Given the description of an element on the screen output the (x, y) to click on. 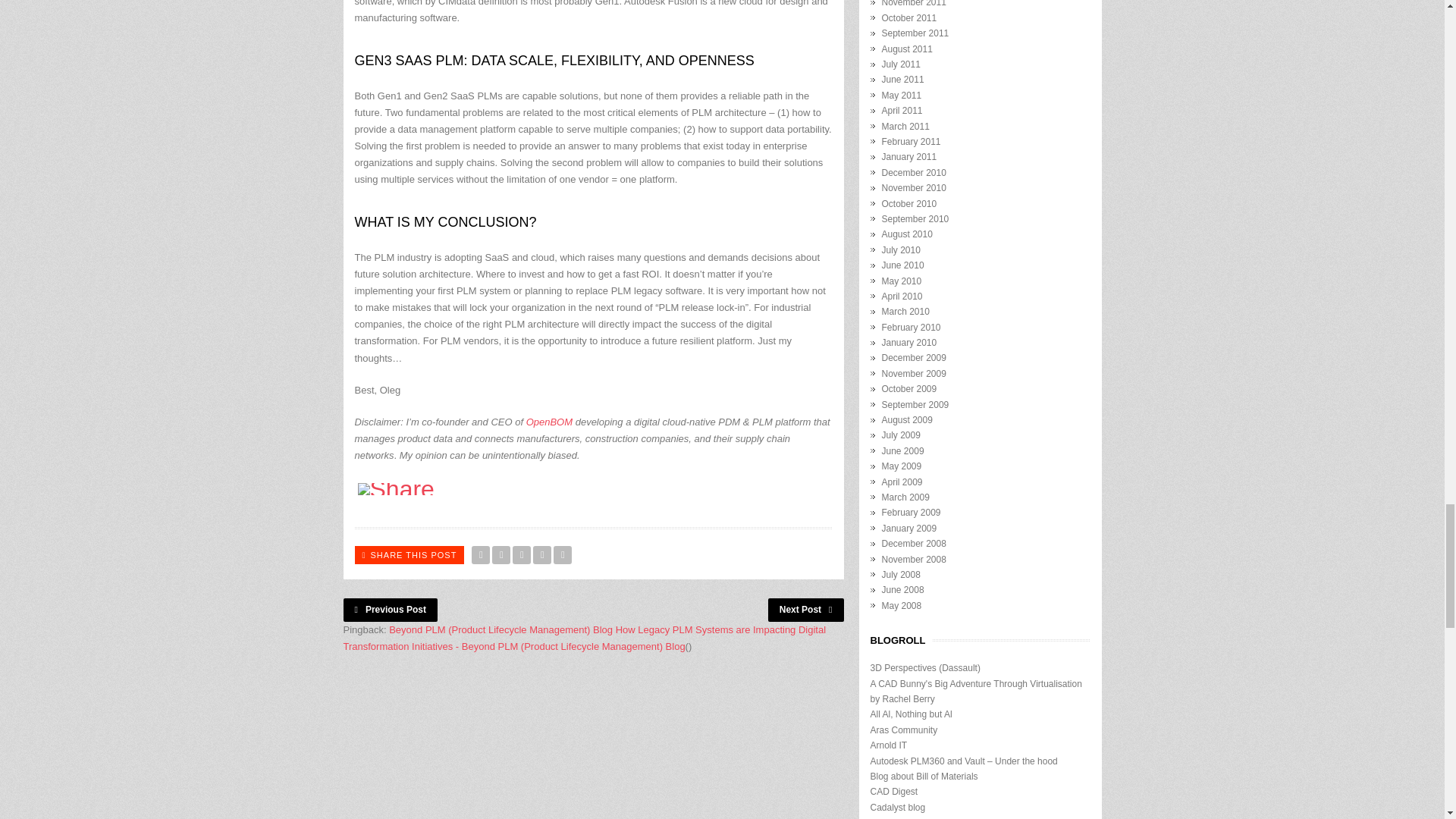
Share on Twitter (480, 555)
Next Post (806, 609)
Previous Post (389, 609)
OpenBOM (548, 421)
Share on Pinterest (541, 555)
Share on Facebook (501, 555)
Share on LinkedIn (562, 555)
